Given the description of an element on the screen output the (x, y) to click on. 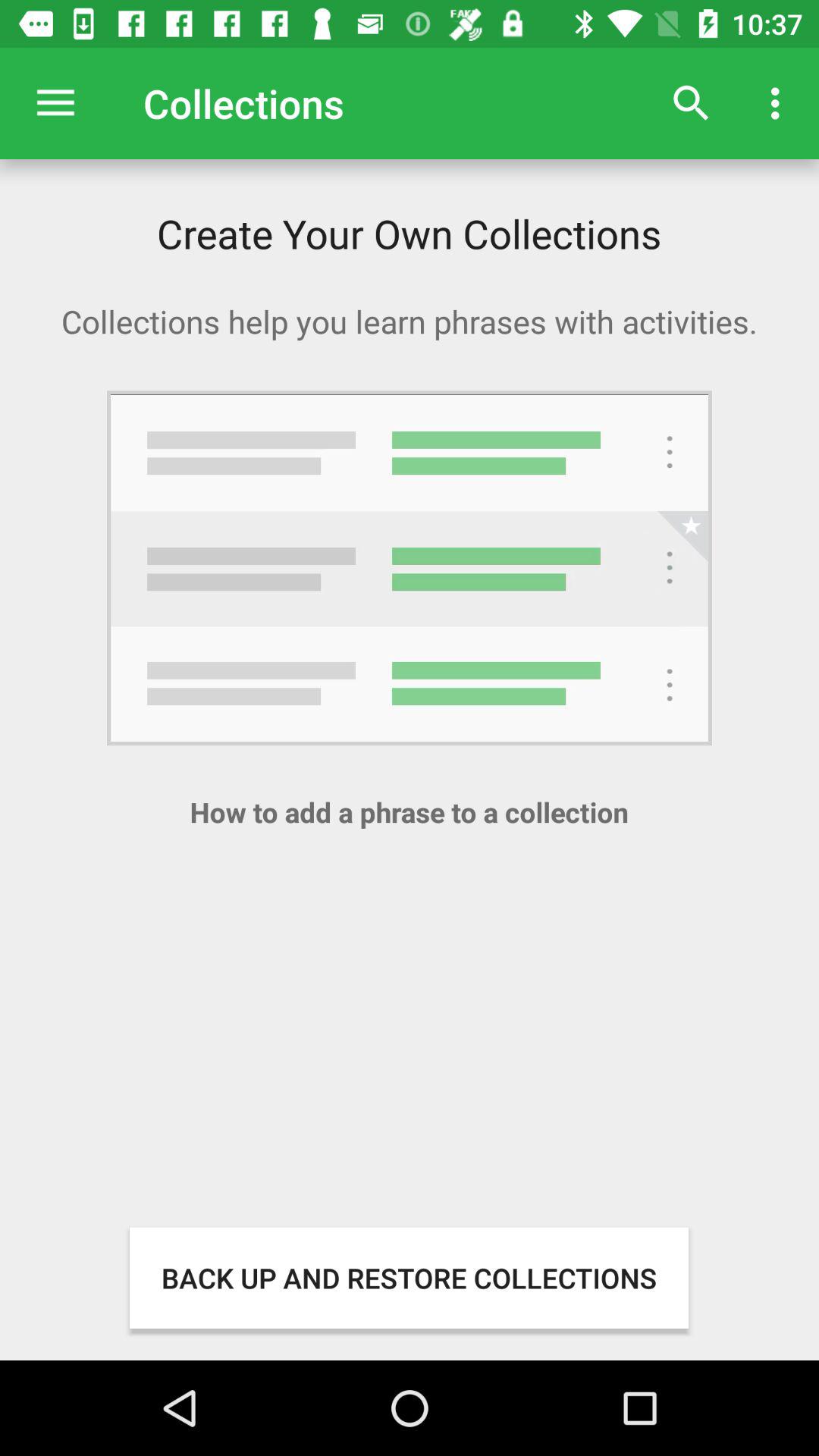
menu button (55, 103)
